Given the description of an element on the screen output the (x, y) to click on. 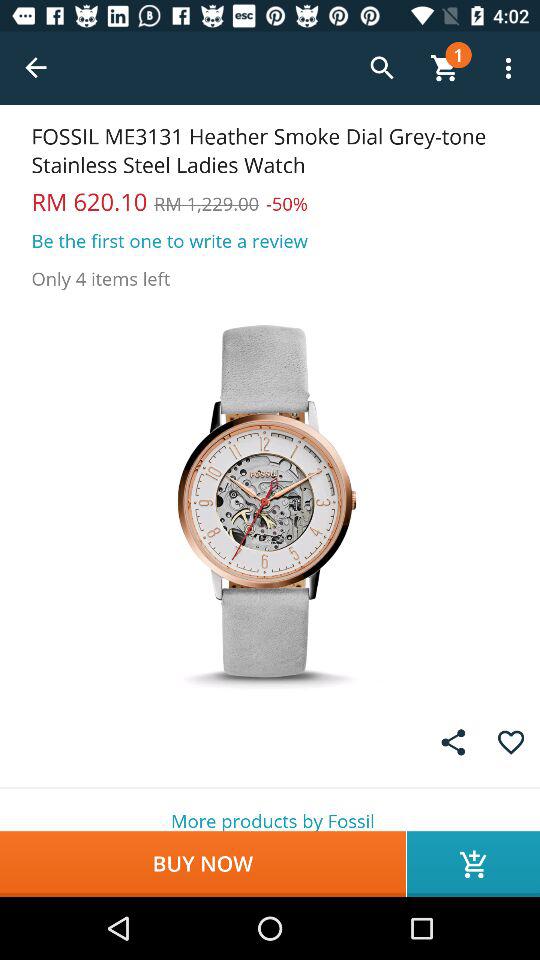
choose the item above the fossil me3131 heather (36, 68)
